Given the description of an element on the screen output the (x, y) to click on. 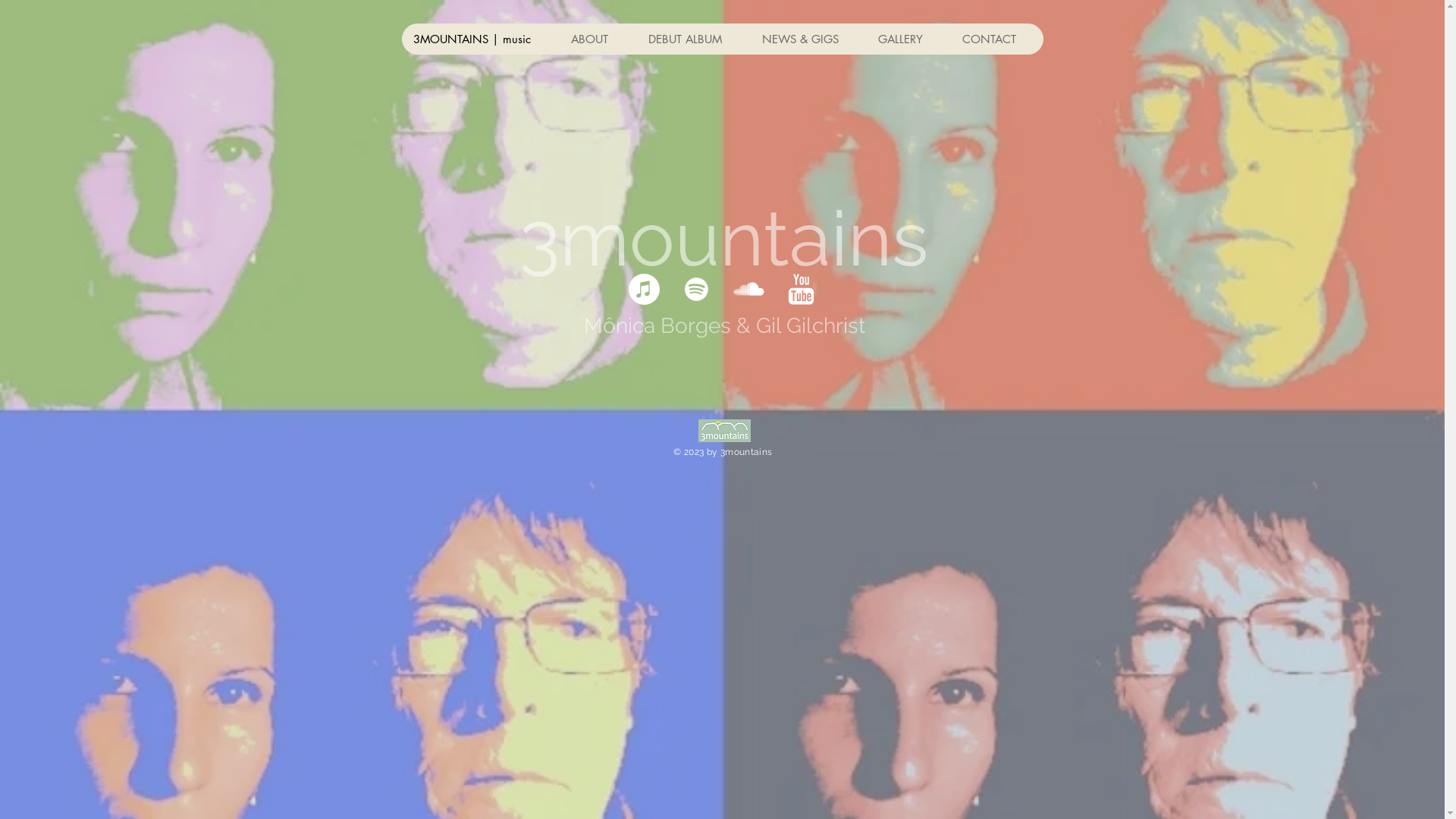
NEWS & GIGS Element type: text (807, 38)
DEBUT ALBUM Element type: text (692, 38)
TWIPLA (Visitor Analytics) Element type: hover (980, 170)
3mountains logo Element type: hover (723, 430)
ABOUT Element type: text (596, 38)
GALLERY Element type: text (908, 38)
3MOUNTAINS | music Element type: text (479, 38)
CONTACT Element type: text (995, 38)
